Given the description of an element on the screen output the (x, y) to click on. 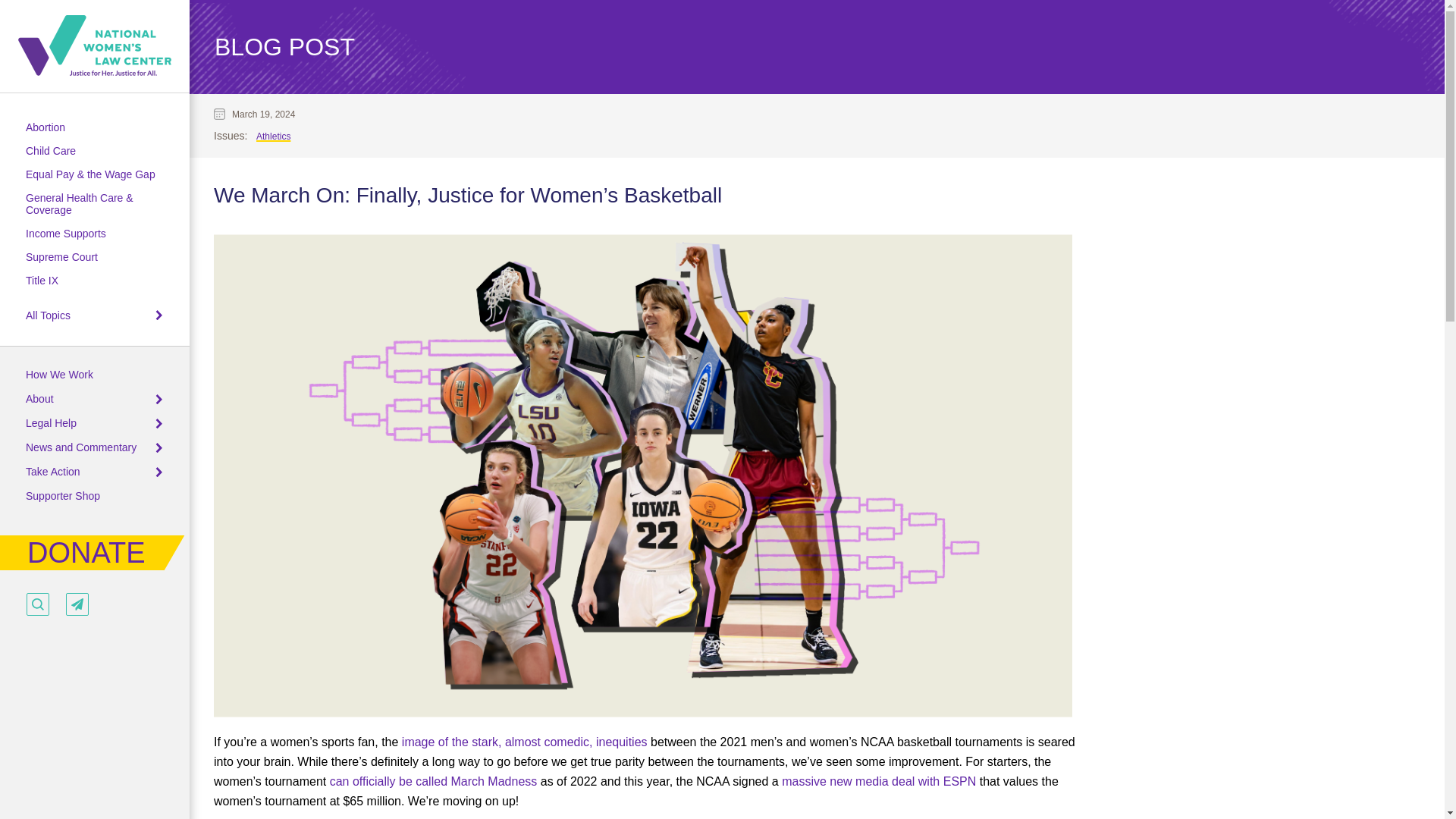
Supreme Court (61, 256)
Child Care (50, 150)
All Topics (47, 315)
Site Branding (94, 45)
Click to toggle dropdown menu. (158, 316)
Abortion (45, 127)
Income Supports (66, 233)
Title IX (42, 280)
